Given the description of an element on the screen output the (x, y) to click on. 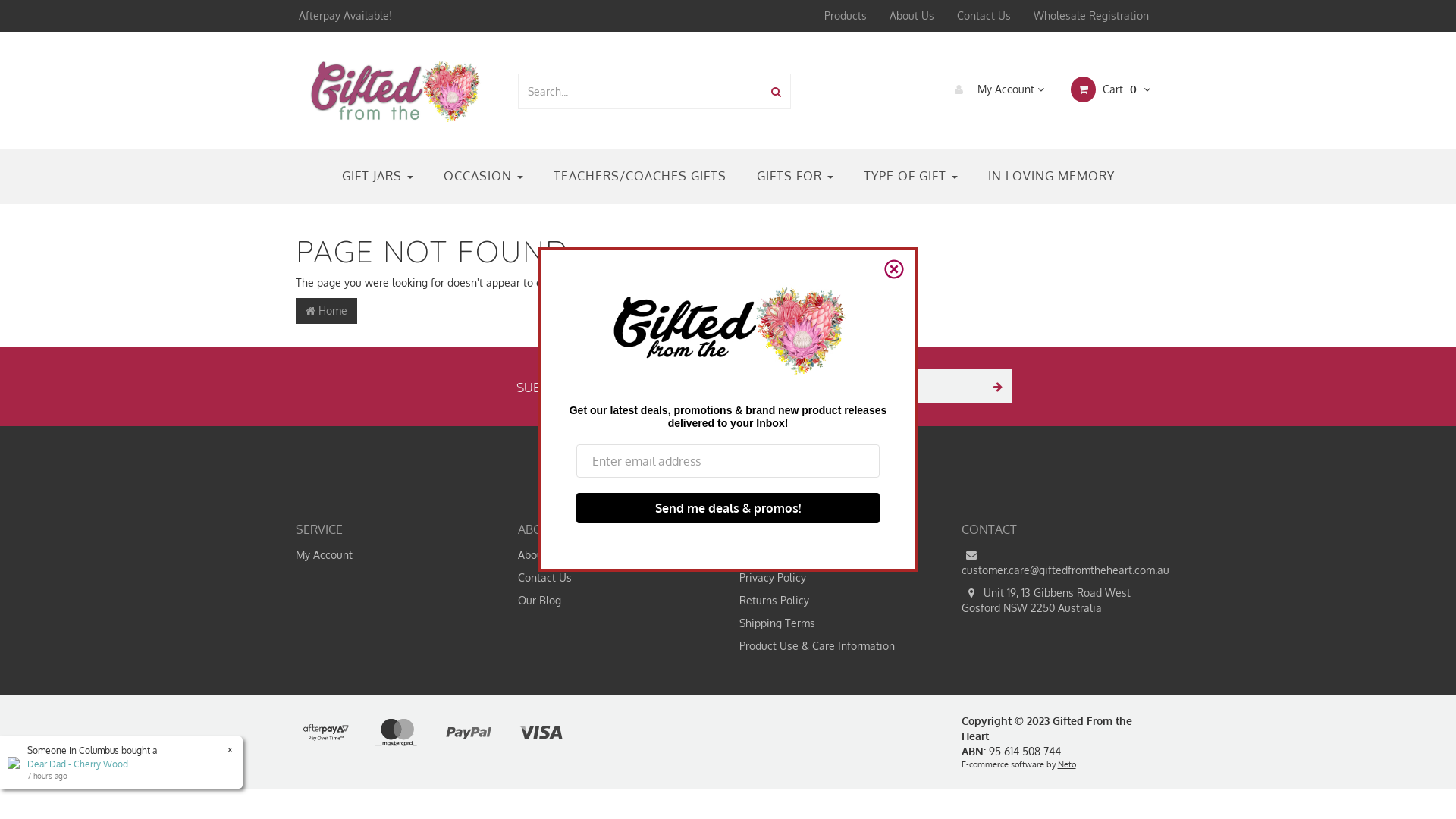
Shipping Terms Element type: text (833, 622)
My Account Element type: text (993, 89)
Gifted From the Heart Element type: hover (394, 89)
Subscribe Element type: text (995, 386)
customer.care@giftedfromtheheart.com.au Element type: text (1054, 562)
Dear Dad - Cherry Wood Element type: text (77, 763)
OCCASION Element type: text (482, 176)
Our Blog Element type: text (611, 600)
Search Element type: text (775, 91)
Cart 0 Element type: text (1108, 89)
IN LOVING MEMORY Element type: text (1050, 176)
About Us Element type: text (911, 15)
Unit 19, 13 Gibbens Road West Gosford NSW 2250 Australia Element type: text (1054, 600)
Products Element type: text (845, 15)
Contact Us Element type: text (983, 15)
Afterpay Available! Element type: text (343, 15)
Neto Element type: text (1066, 764)
GIFTS FOR Element type: text (794, 176)
GIFT JARS Element type: text (376, 176)
My Account Element type: text (389, 554)
Terms & Conditions Element type: text (833, 554)
Wholesale Registration Element type: text (1091, 15)
Privacy Policy Element type: text (833, 577)
TYPE OF GIFT Element type: text (909, 176)
Contact Us Element type: text (611, 577)
About Us Element type: text (611, 554)
Home Element type: text (326, 310)
Product Use & Care Information Element type: text (833, 645)
Returns Policy Element type: text (833, 600)
TEACHERS/COACHES GIFTS Element type: text (639, 176)
